Given the description of an element on the screen output the (x, y) to click on. 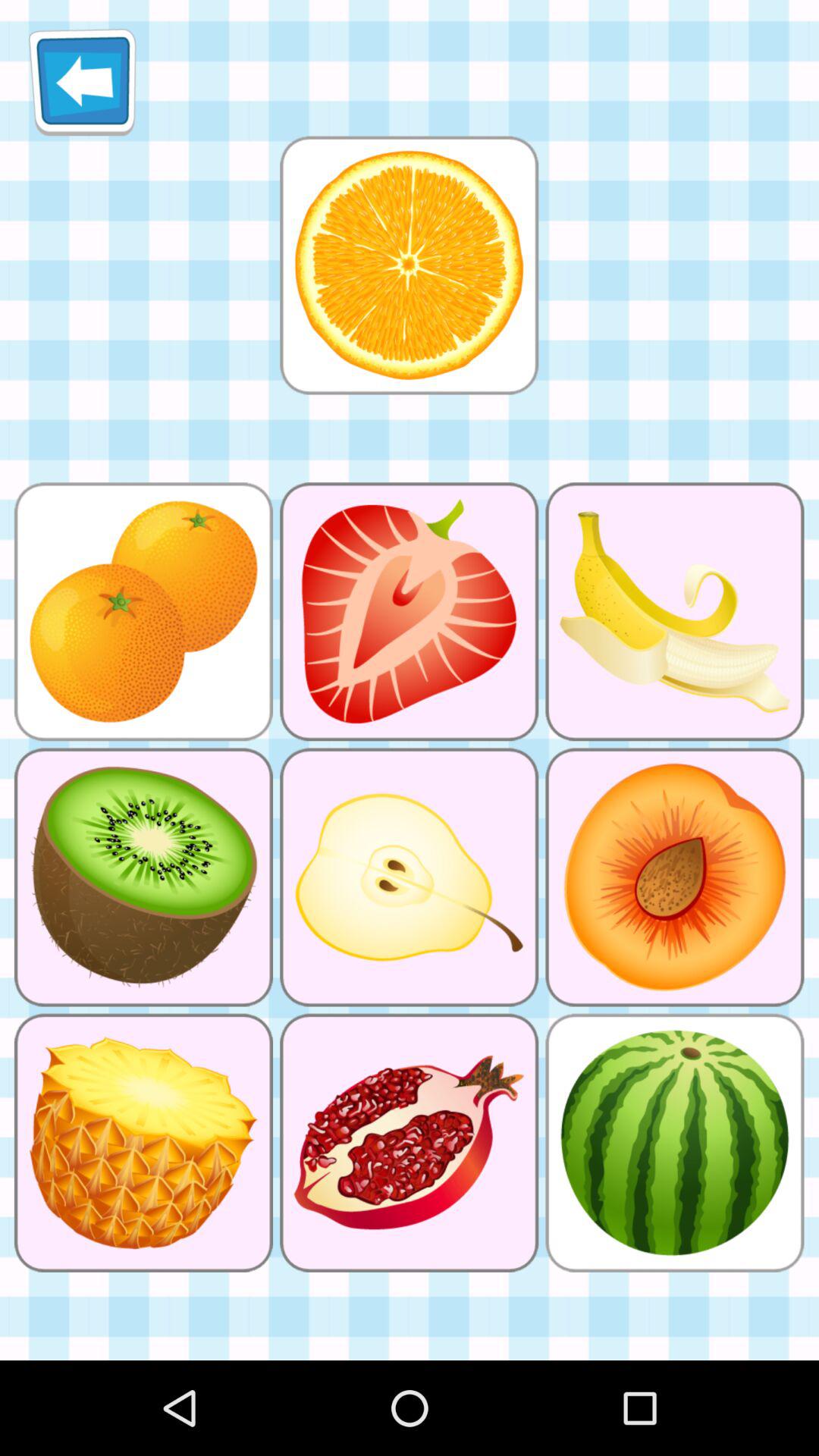
select the item at the top left corner (82, 82)
